Given the description of an element on the screen output the (x, y) to click on. 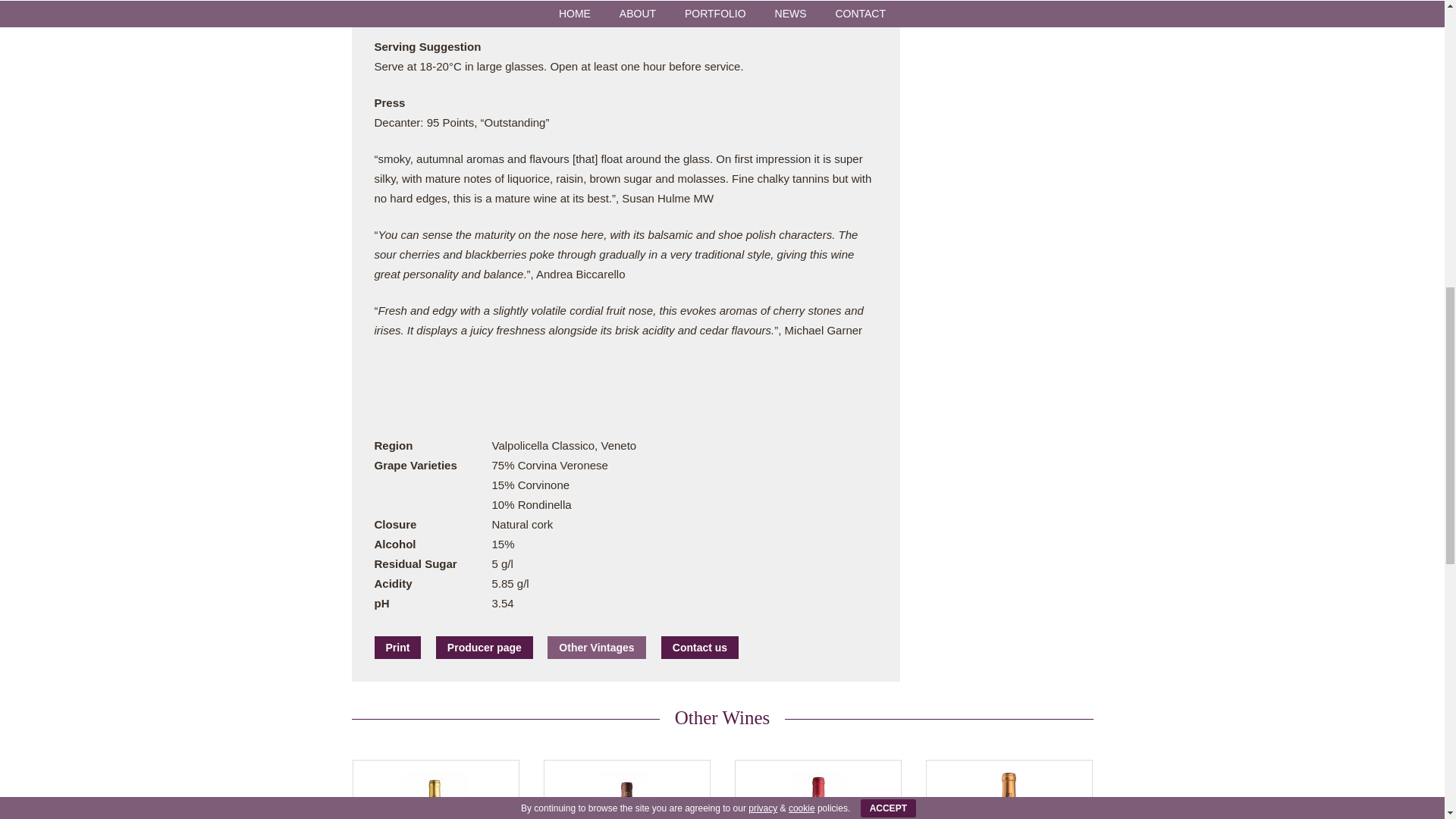
Custoza 2022 (435, 789)
Producer page (483, 647)
'Le Fornaci' Lugana 2021 (1008, 789)
'Le Fornaci' Lugana 2021 (1008, 789)
Contact us (699, 647)
Bardolino 2020 (817, 789)
Bardolino 2020 (817, 789)
Le Fornaci Lugana Riserva 2018 (626, 789)
Le Fornaci Lugana Riserva 2018  (626, 789)
Custoza 2022 (435, 789)
Print (398, 647)
